Given the description of an element on the screen output the (x, y) to click on. 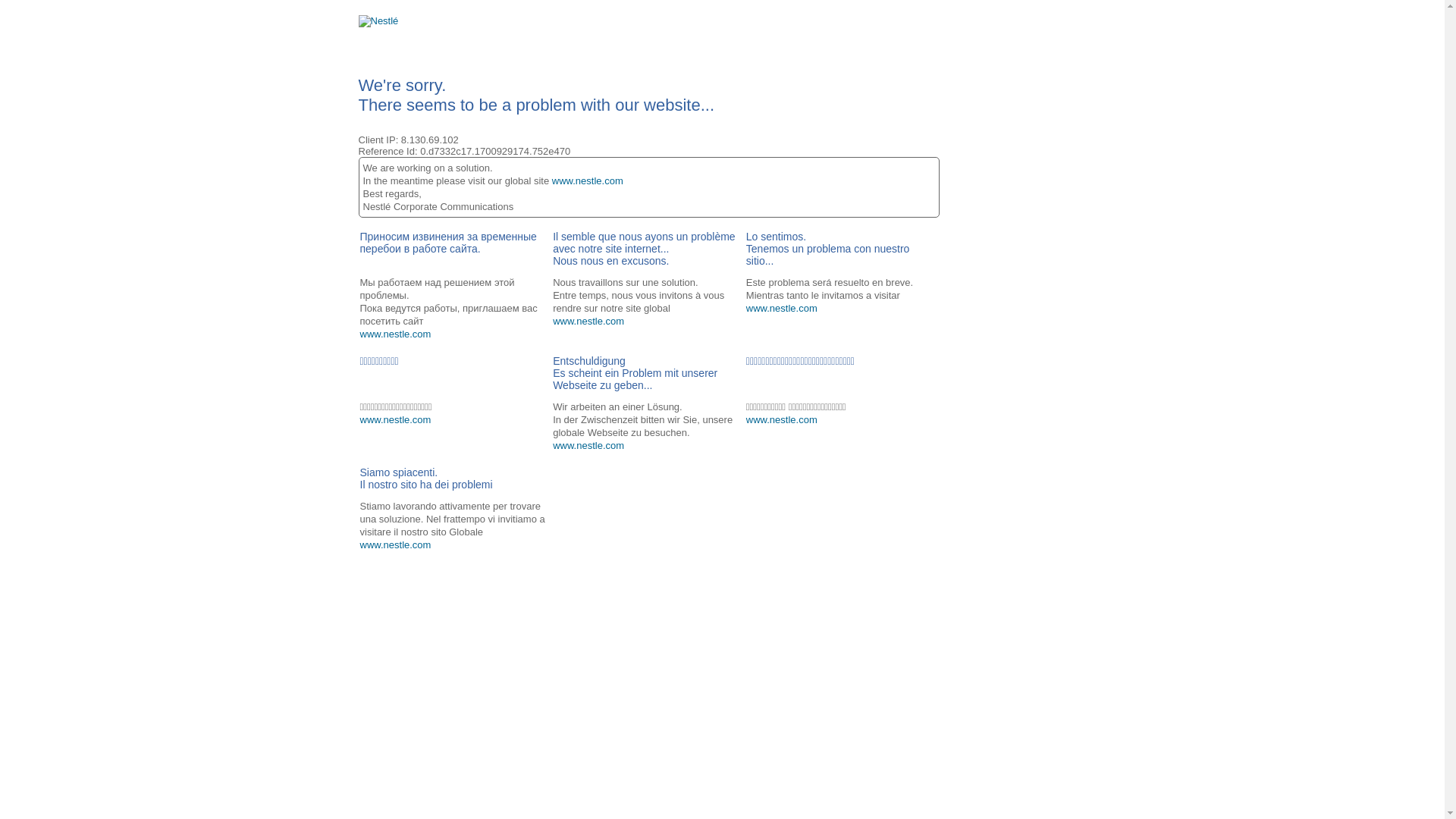
www.nestle.com Element type: text (781, 307)
www.nestle.com Element type: text (394, 544)
www.nestle.com Element type: text (781, 419)
www.nestle.com Element type: text (588, 445)
www.nestle.com Element type: text (587, 180)
www.nestle.com Element type: text (394, 419)
www.nestle.com Element type: text (394, 333)
www.nestle.com Element type: text (588, 320)
